Given the description of an element on the screen output the (x, y) to click on. 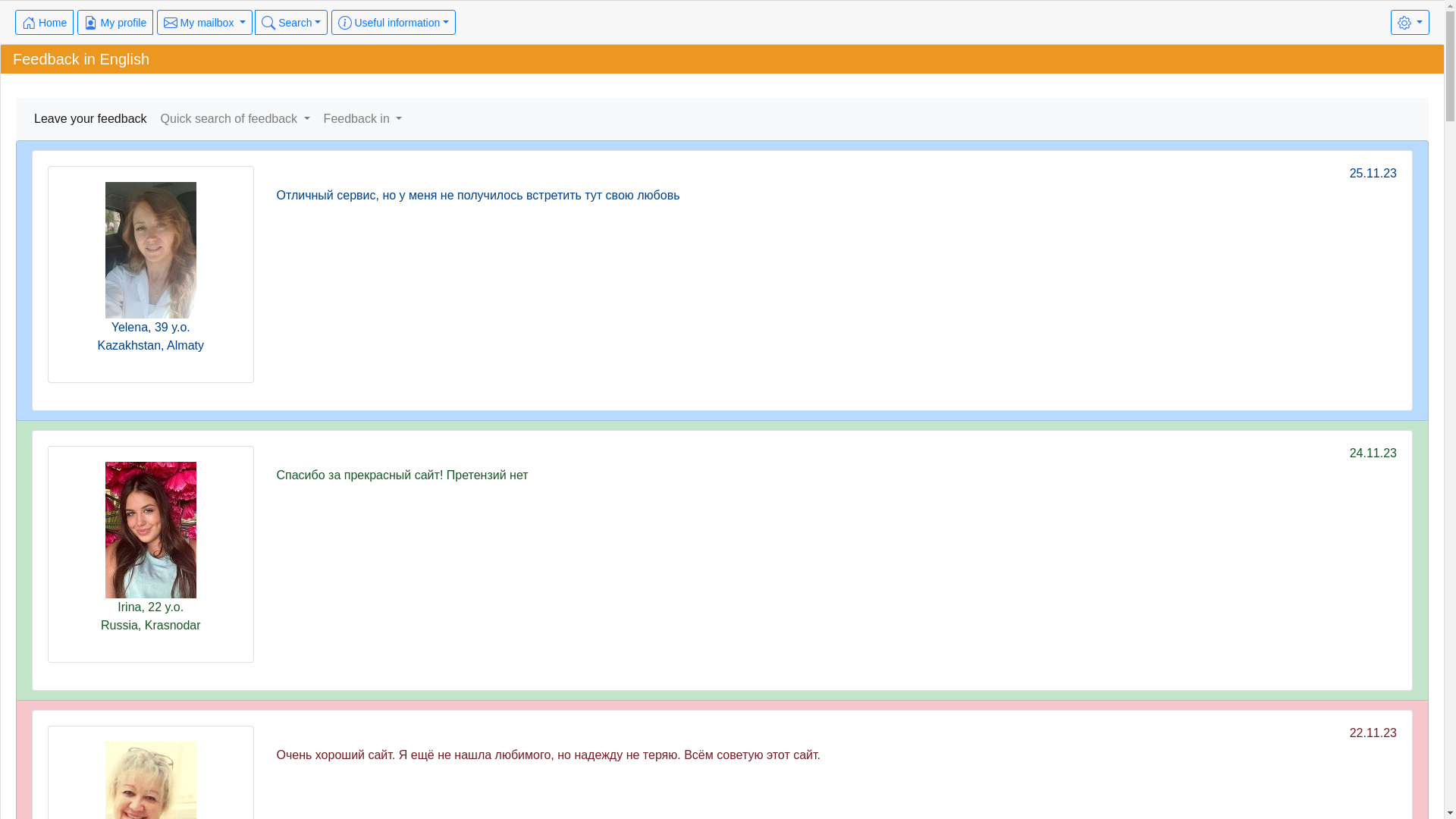
Home Element type: text (44, 21)
Feedback in Element type: text (362, 118)
Leave your feedback Element type: text (90, 118)
My profile Element type: text (115, 21)
Useful information Element type: text (393, 21)
Search Element type: text (290, 21)
My mailbox Element type: text (204, 21)
Quick search of feedback Element type: text (235, 118)
